Given the description of an element on the screen output the (x, y) to click on. 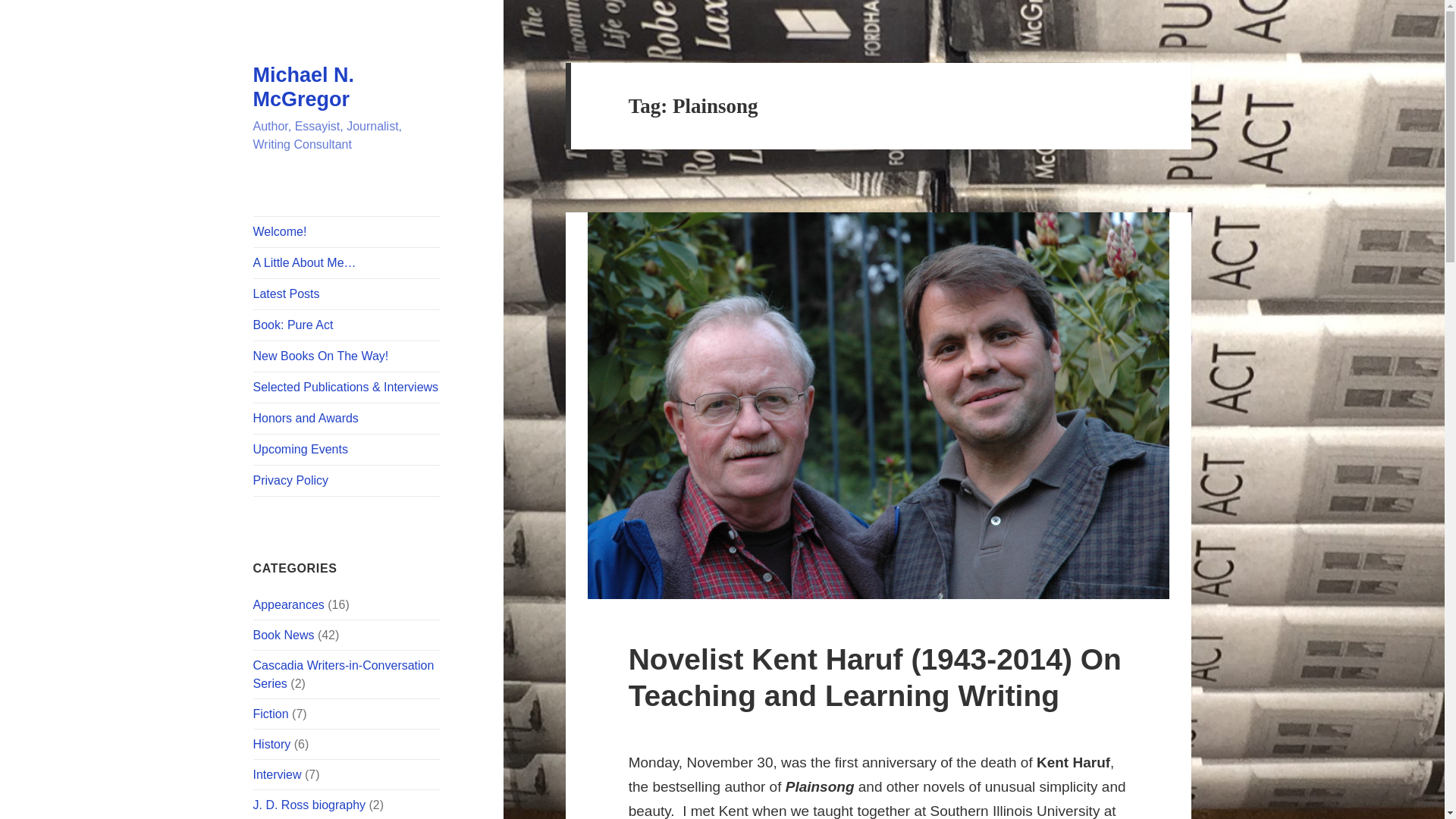
Upcoming Events (347, 449)
Book News (283, 634)
Cascadia Writers-in-Conversation Series (343, 674)
Michael N. McGregor (304, 86)
J. D. Ross biography (309, 804)
Privacy Policy (347, 481)
Appearances (288, 604)
Book: Pure Act (347, 325)
Honors and Awards (347, 418)
New Books On The Way! (347, 356)
